Given the description of an element on the screen output the (x, y) to click on. 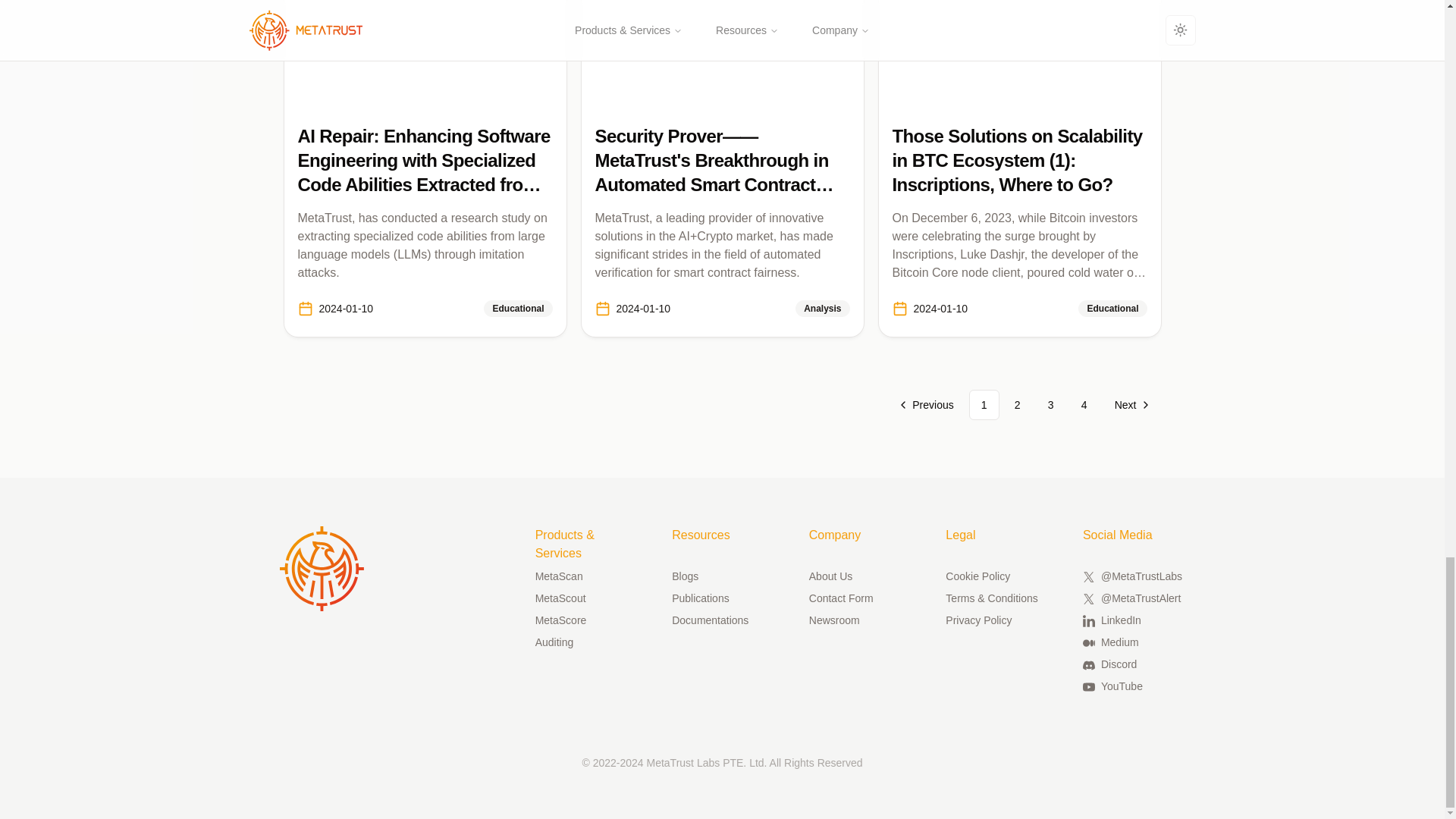
3 (1050, 404)
1 (983, 404)
Back to Home (321, 568)
2 (1017, 404)
4 (1083, 404)
Previous (927, 404)
